Given the description of an element on the screen output the (x, y) to click on. 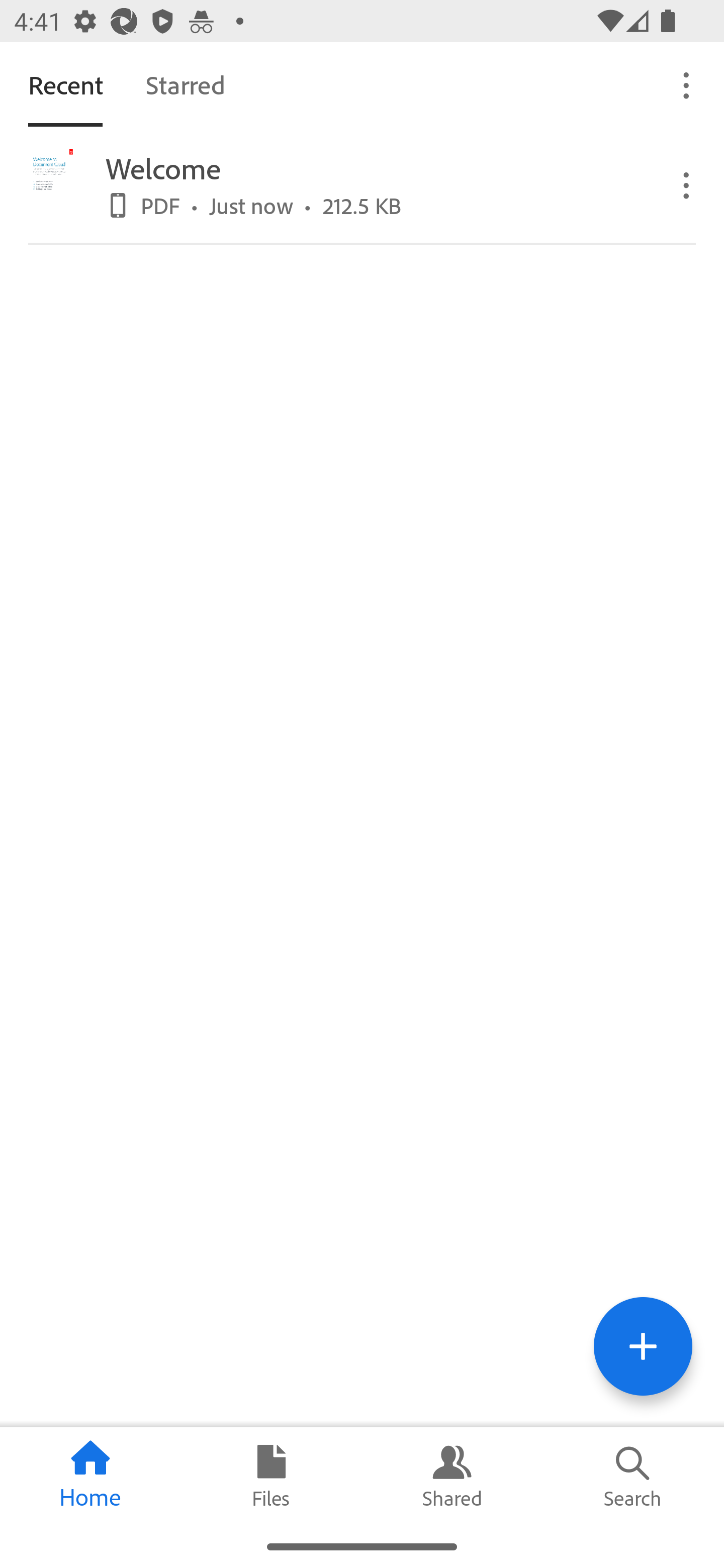
Recent (65, 84)
Starred (185, 84)
Overflow (687, 84)
Overflow (687, 184)
Tools (642, 1345)
Home (90, 1475)
Files (271, 1475)
Shared (452, 1475)
Search (633, 1475)
